Given the description of an element on the screen output the (x, y) to click on. 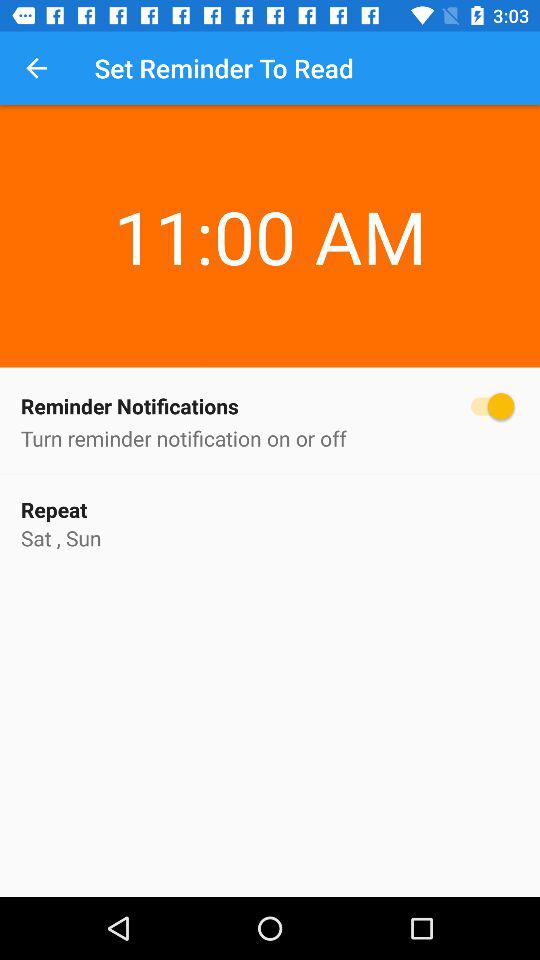
swipe to the reminder notifications icon (270, 406)
